Given the description of an element on the screen output the (x, y) to click on. 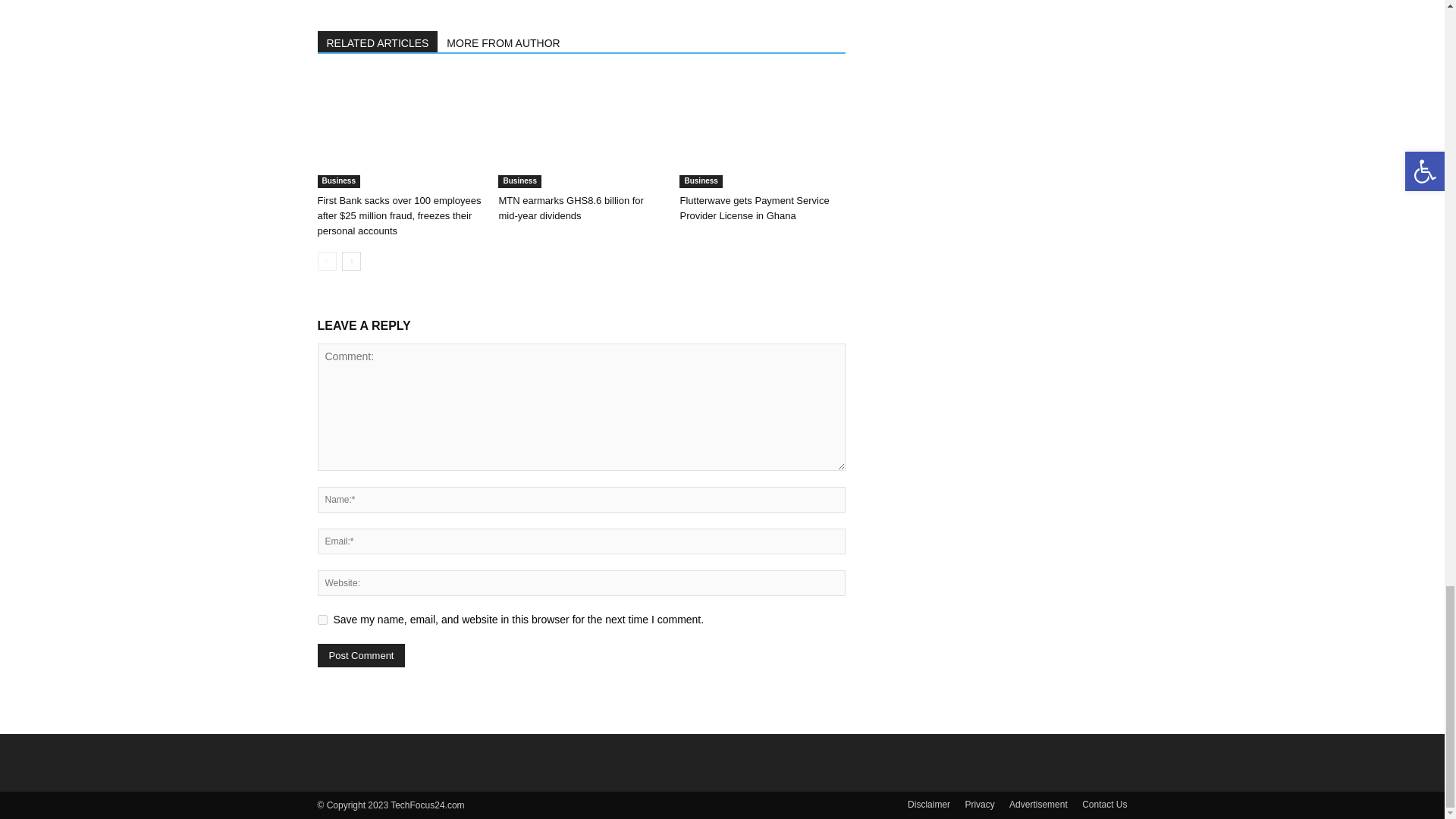
yes (321, 619)
Post Comment (360, 655)
